Given the description of an element on the screen output the (x, y) to click on. 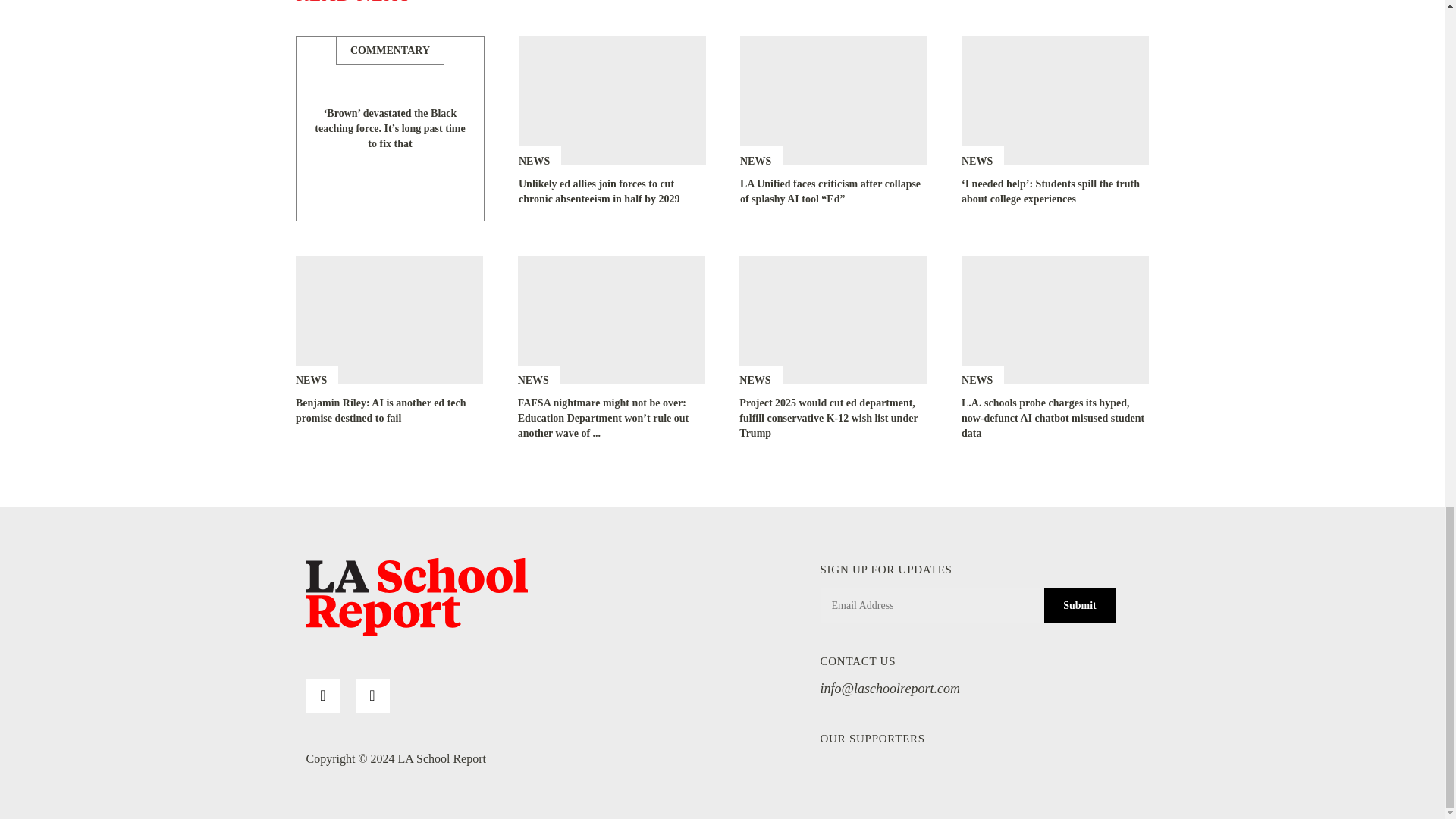
Submit (1079, 605)
